Given the description of an element on the screen output the (x, y) to click on. 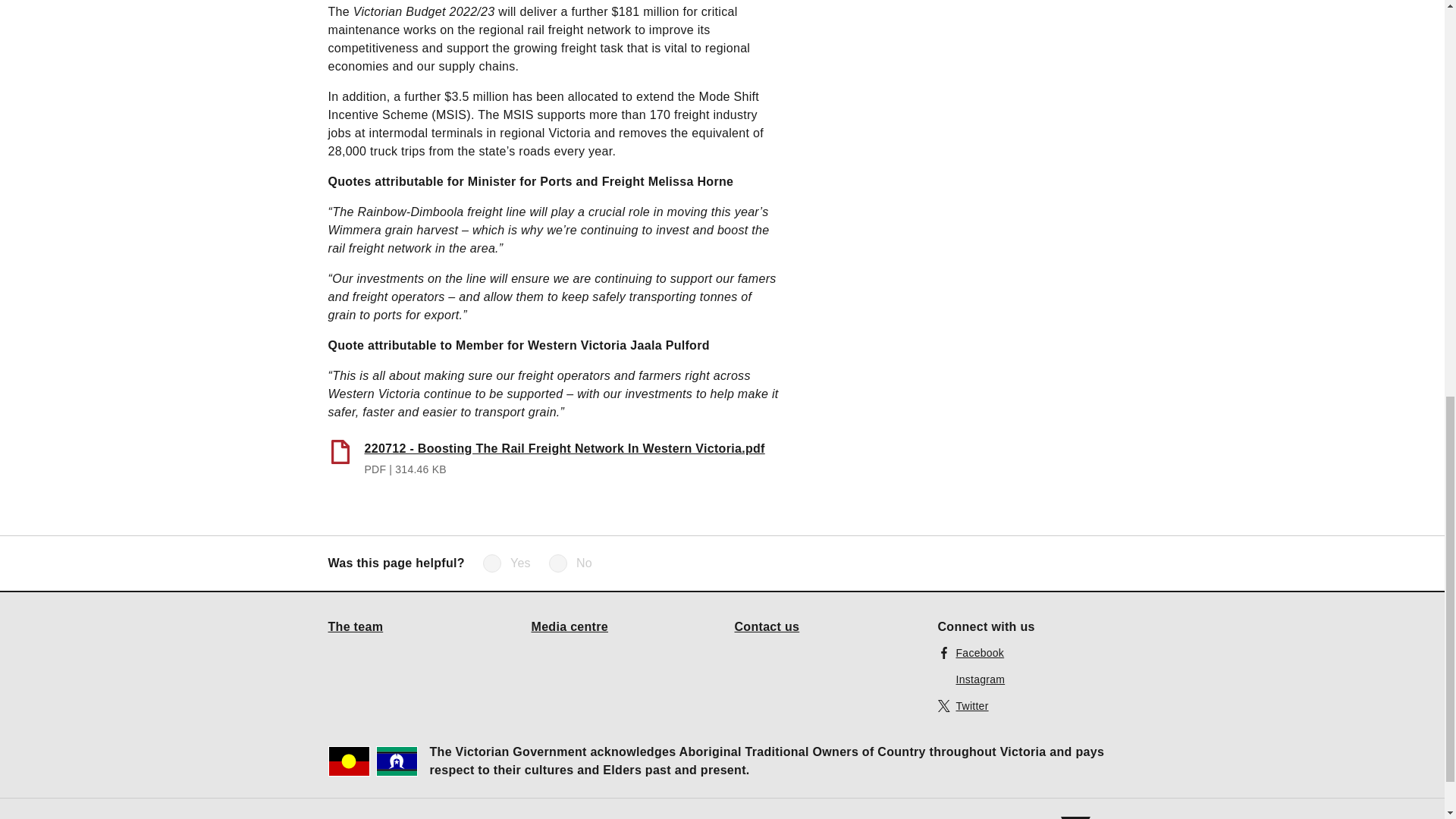
Accessibility (357, 818)
Facebook (970, 652)
Disclaimer (491, 818)
Victoria government home (1087, 817)
The team (354, 625)
Copyright (426, 818)
Contact us (766, 625)
Policies (671, 818)
Twitter (962, 704)
Privacy (550, 818)
Media centre (569, 625)
Instagram (970, 679)
Contact us (610, 818)
